Given the description of an element on the screen output the (x, y) to click on. 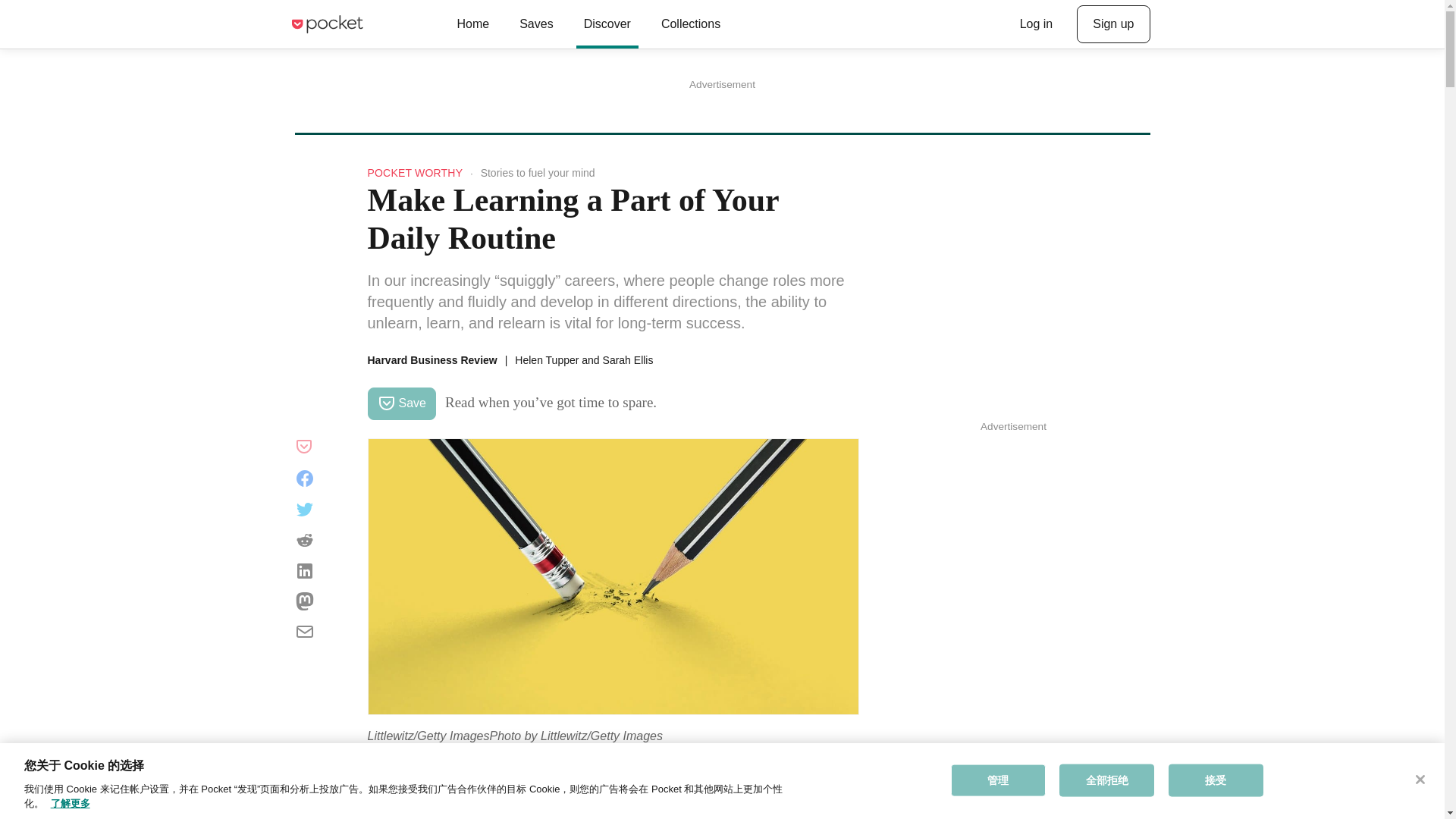
Save (400, 403)
Collections (690, 24)
Log in (1036, 24)
Harvard Business Review (431, 359)
Saves (535, 24)
Home (472, 24)
Sign up (1113, 23)
Discover (607, 24)
Pocket (326, 24)
